Given the description of an element on the screen output the (x, y) to click on. 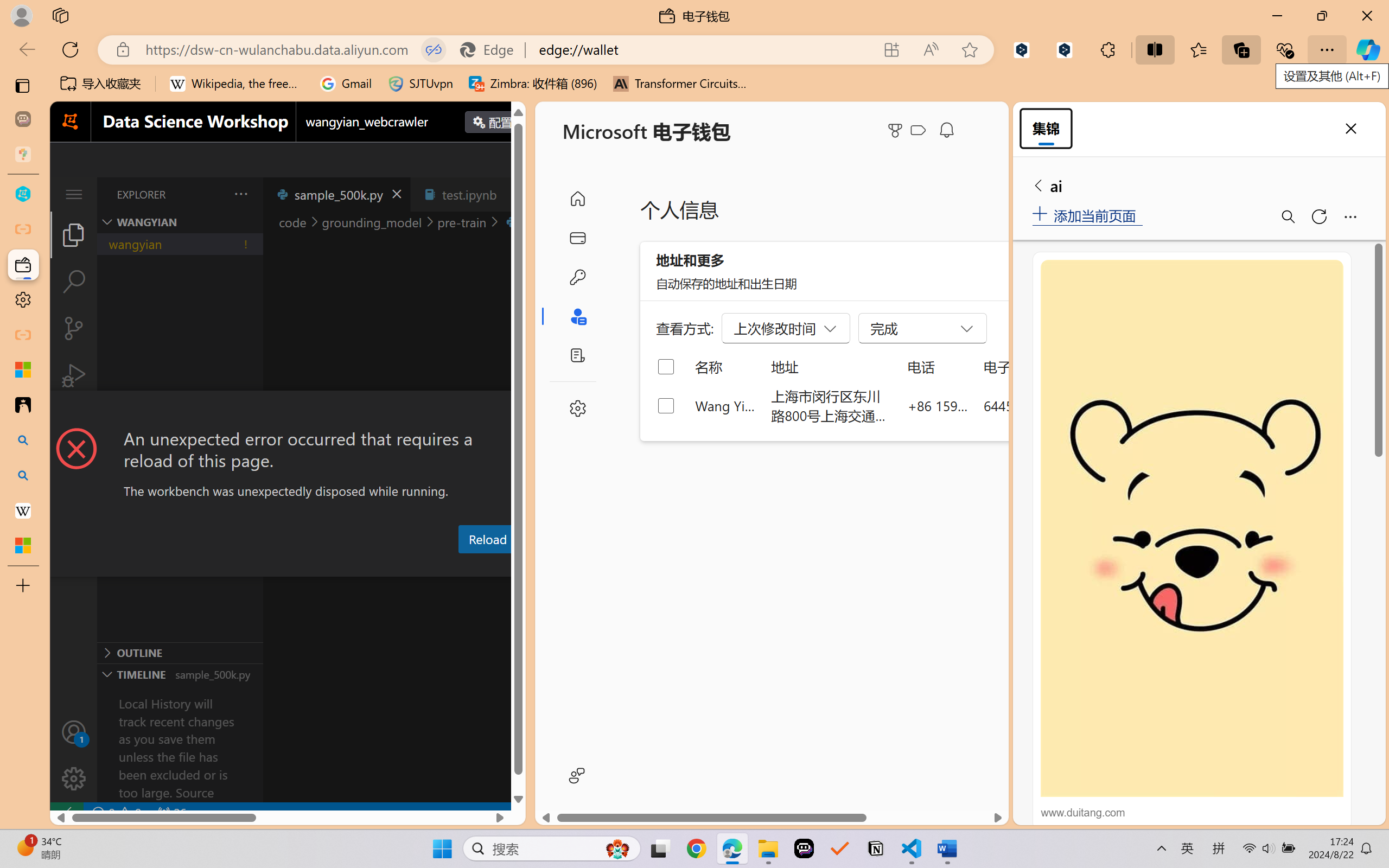
wangyian_dsw - DSW (22, 194)
Transformer Circuits Thread (680, 83)
Wikipedia, the free encyclopedia (236, 83)
SJTUvpn (419, 83)
Tab actions (512, 194)
